Given the description of an element on the screen output the (x, y) to click on. 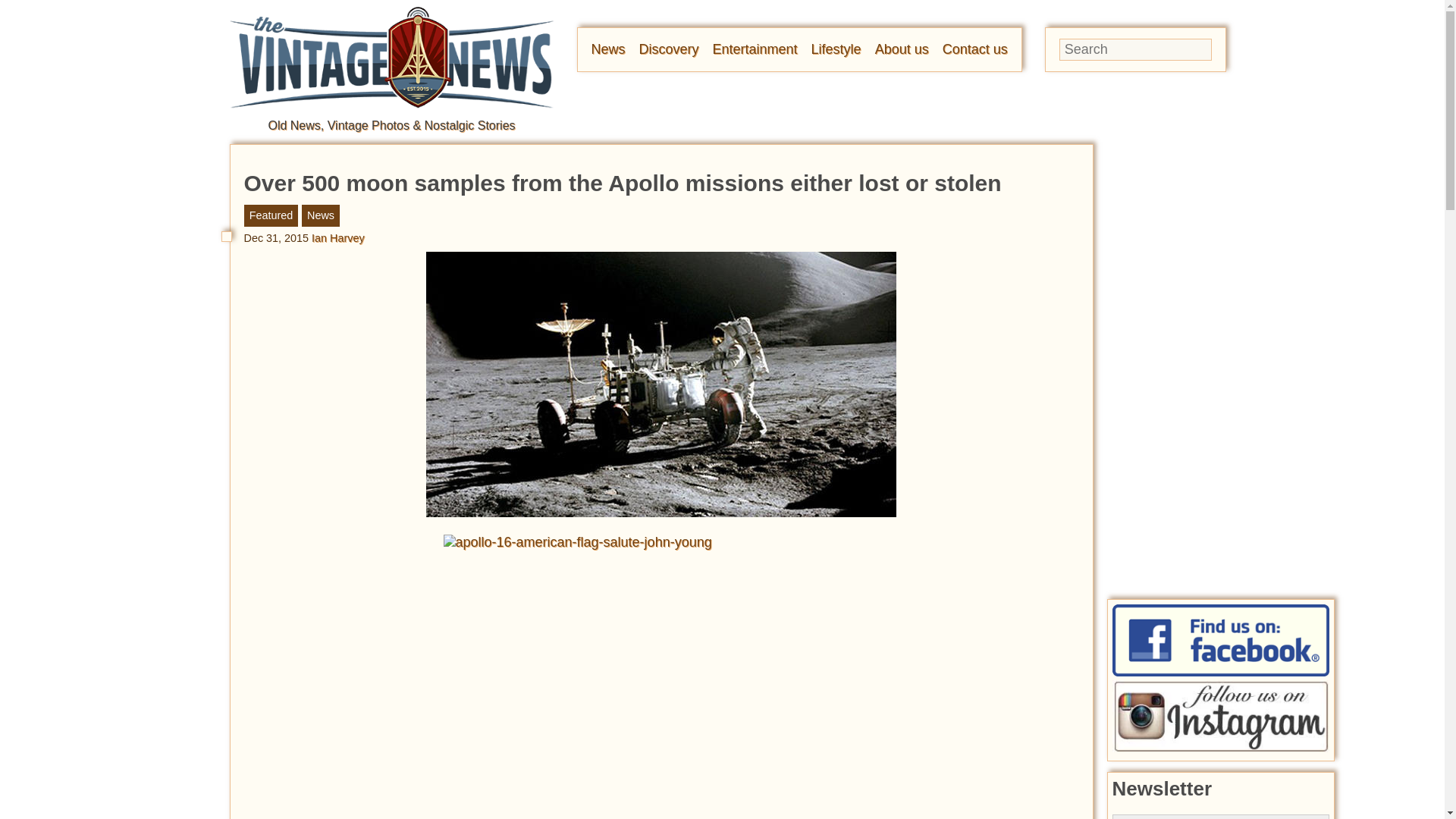
Entertainment (755, 48)
News (608, 48)
About us (901, 48)
Lifestyle (835, 48)
Discovery (668, 48)
Contact us (974, 48)
